Given the description of an element on the screen output the (x, y) to click on. 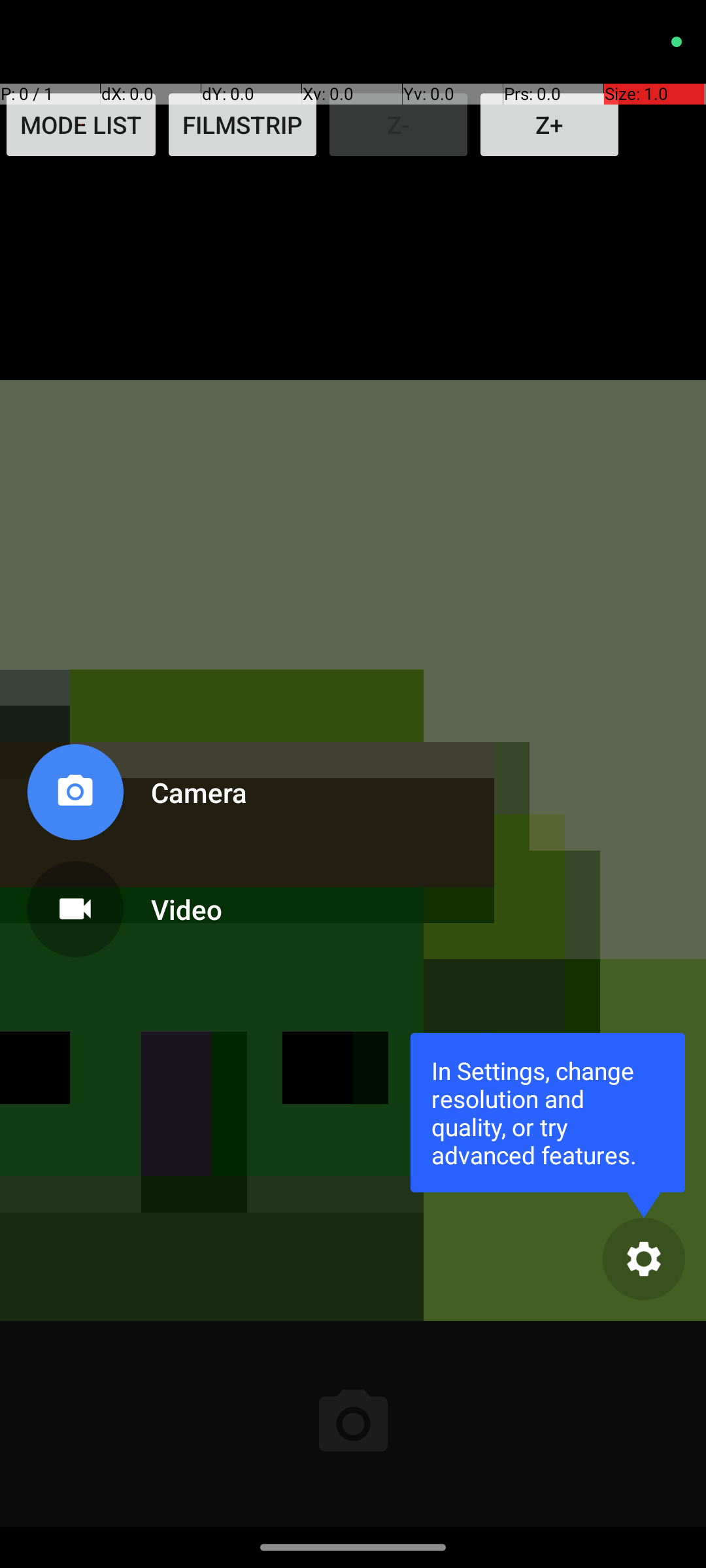
Switch to Camera Mode Element type: android.widget.FrameLayout (134, 797)
Switch to Video Camera Element type: android.widget.FrameLayout (134, 903)
In Settings, change resolution and quality, or try advanced features. Element type: android.widget.TextView (547, 1112)
